Given the description of an element on the screen output the (x, y) to click on. 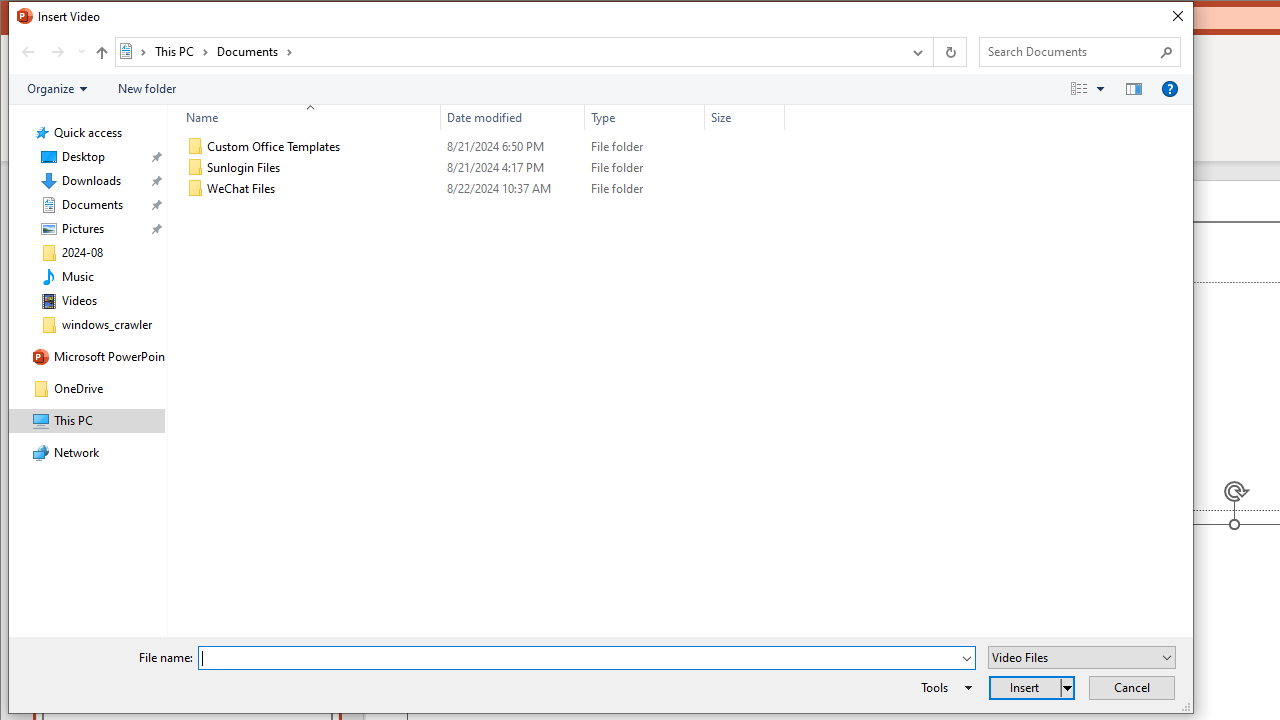
Up to "This PC" (Alt + Up Arrow) (101, 52)
View Slider (1100, 89)
Forward (Alt + Right Arrow) (57, 51)
New folder (146, 89)
All locations (133, 51)
&Help (1169, 89)
Tools (943, 687)
Refresh "Documents" (F5) (949, 51)
Preview pane (1134, 89)
Sunlogin Files (481, 167)
File name: (579, 658)
Date modified (512, 188)
Date modified (512, 117)
Up band toolbar (101, 55)
